Given the description of an element on the screen output the (x, y) to click on. 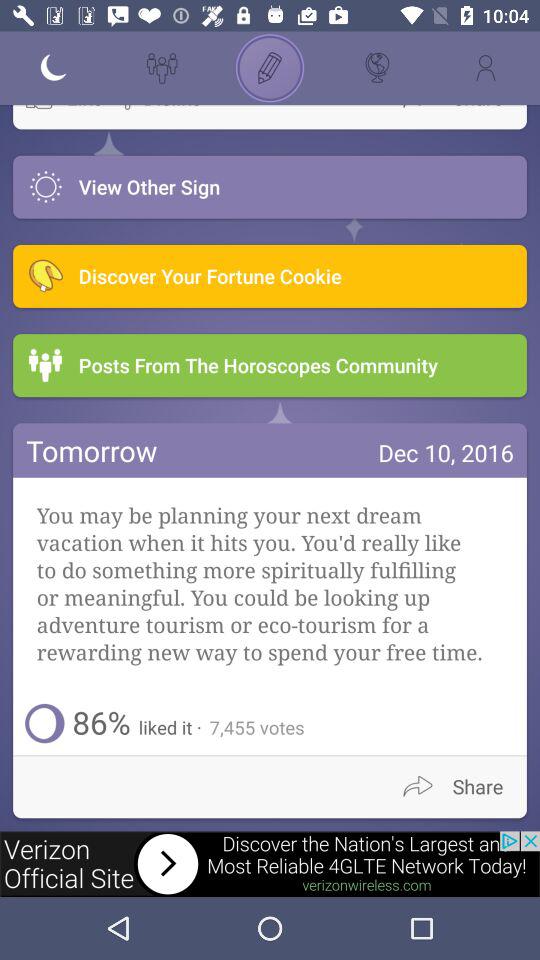
see an image (270, 864)
